Given the description of an element on the screen output the (x, y) to click on. 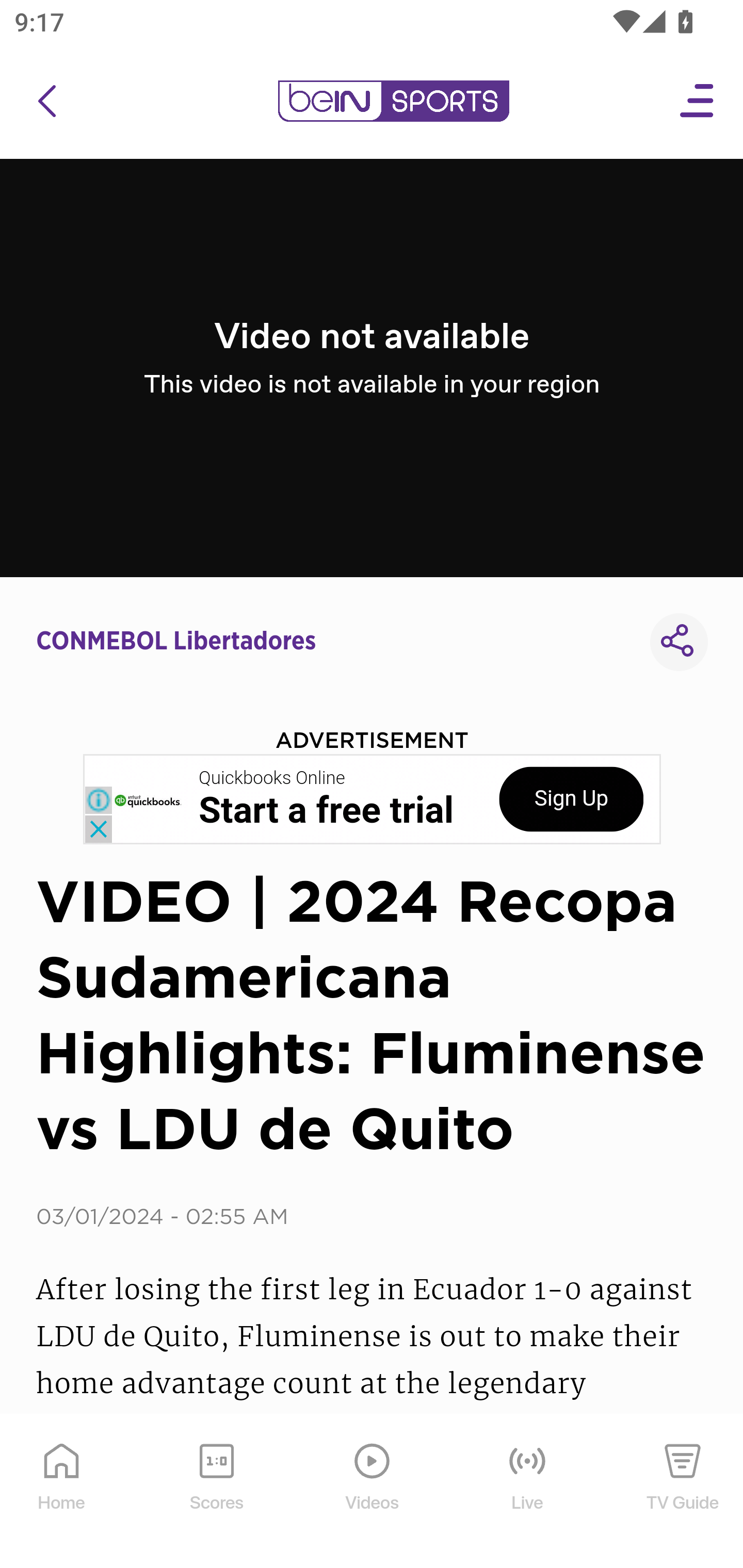
en-us?platform=mobile_android bein logo (392, 101)
icon back (46, 101)
Open Menu Icon (697, 101)
Quickbooks Online (272, 778)
Sign Up (571, 799)
Start a free trial (326, 810)
Home Home Icon Home (61, 1491)
Scores Scores Icon Scores (216, 1491)
Videos Videos Icon Videos (372, 1491)
TV Guide TV Guide Icon TV Guide (682, 1491)
